Given the description of an element on the screen output the (x, y) to click on. 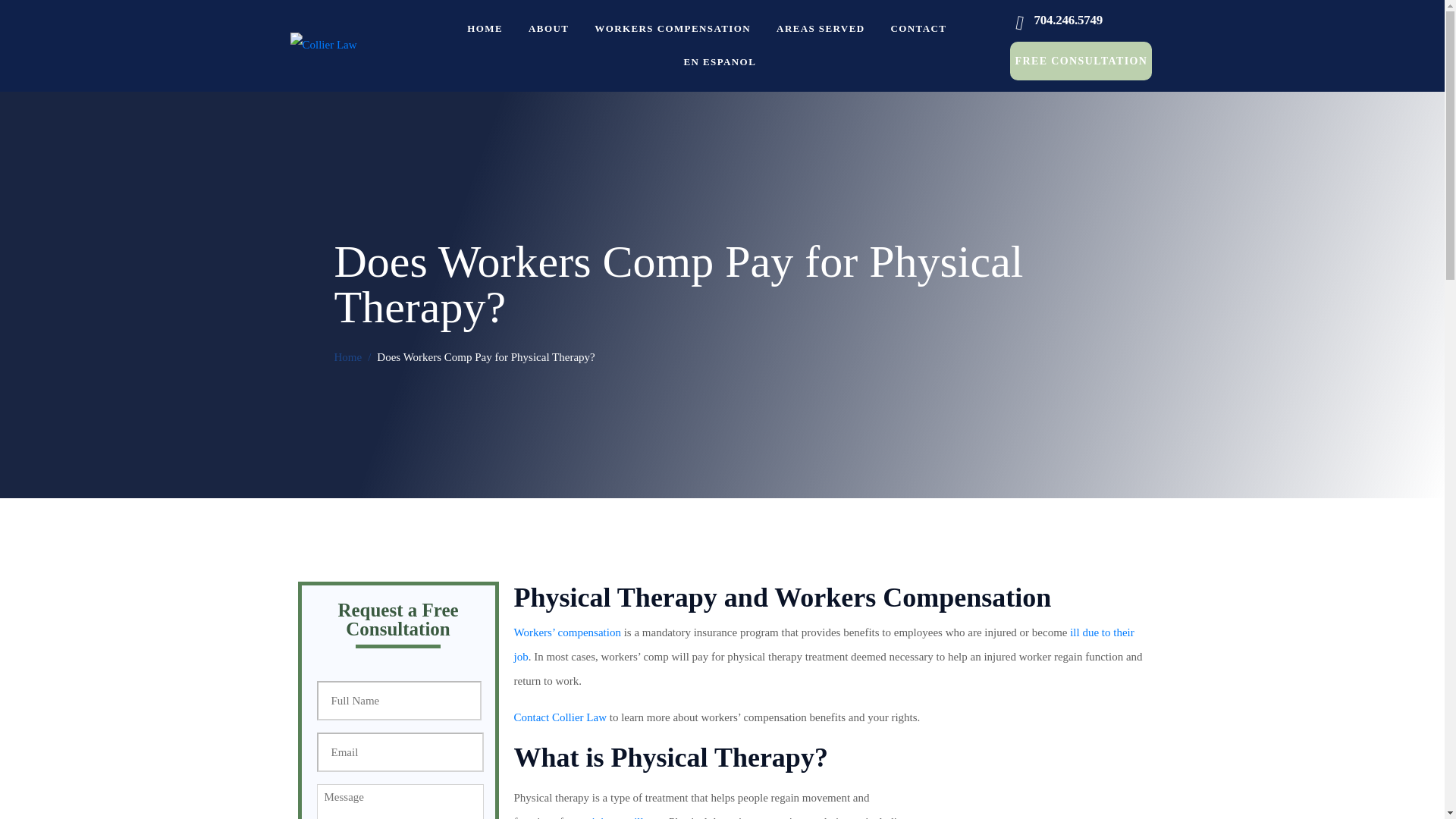
ABOUT (548, 27)
AREAS SERVED (820, 27)
HOME (484, 27)
EN ESPANOL (718, 60)
WORKERS COMPENSATION (672, 27)
CONTACT (919, 27)
